Given the description of an element on the screen output the (x, y) to click on. 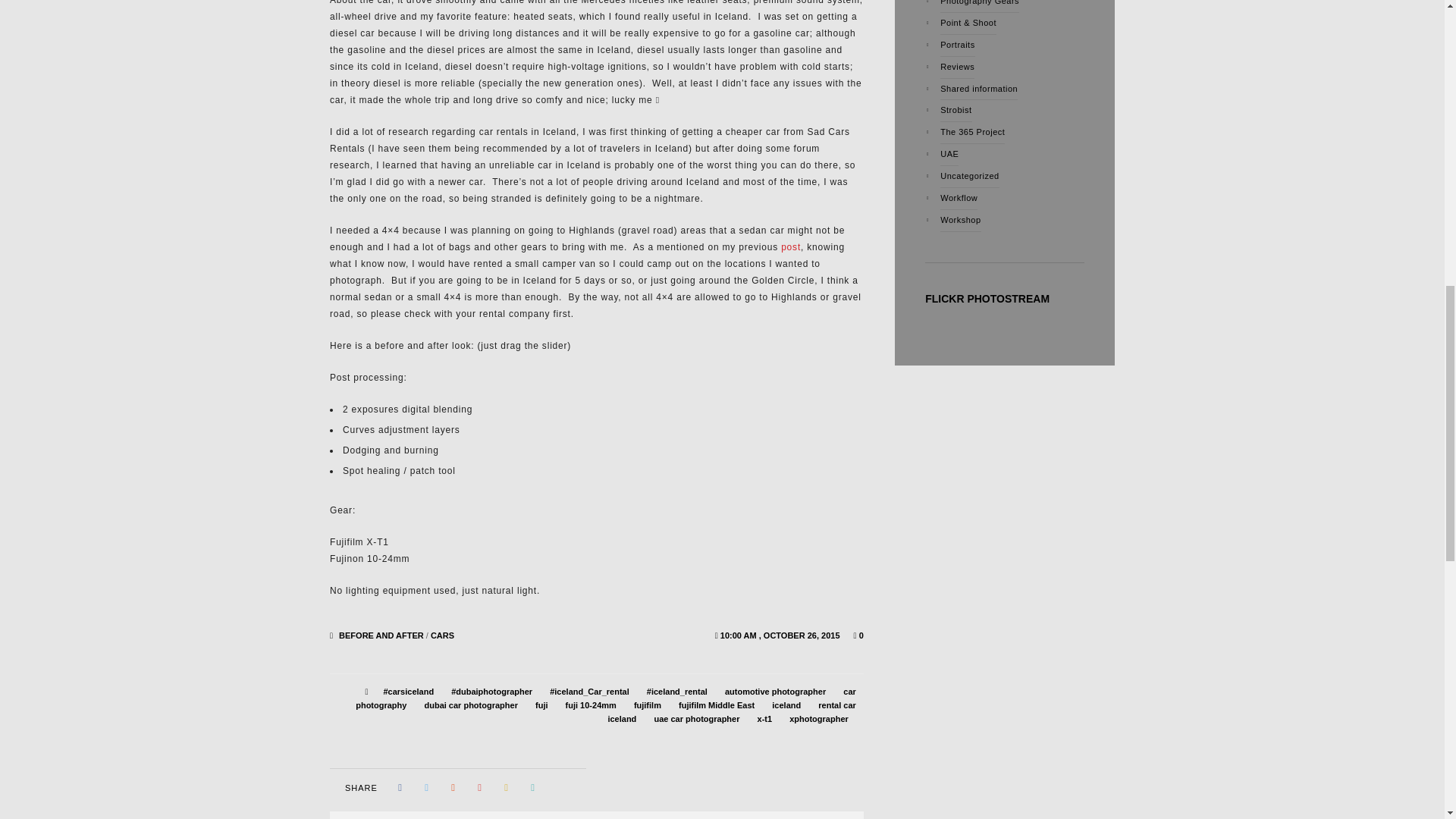
fujifilm (647, 705)
dubai car photographer (470, 705)
x-t1 (764, 718)
fujifilm Middle East (716, 705)
BEFORE AND AFTER (381, 634)
rental car iceland (731, 711)
Permalink to My Rental Car in Iceland (781, 634)
automotive photographer (774, 691)
CARS (442, 634)
fuji (541, 705)
